Given the description of an element on the screen output the (x, y) to click on. 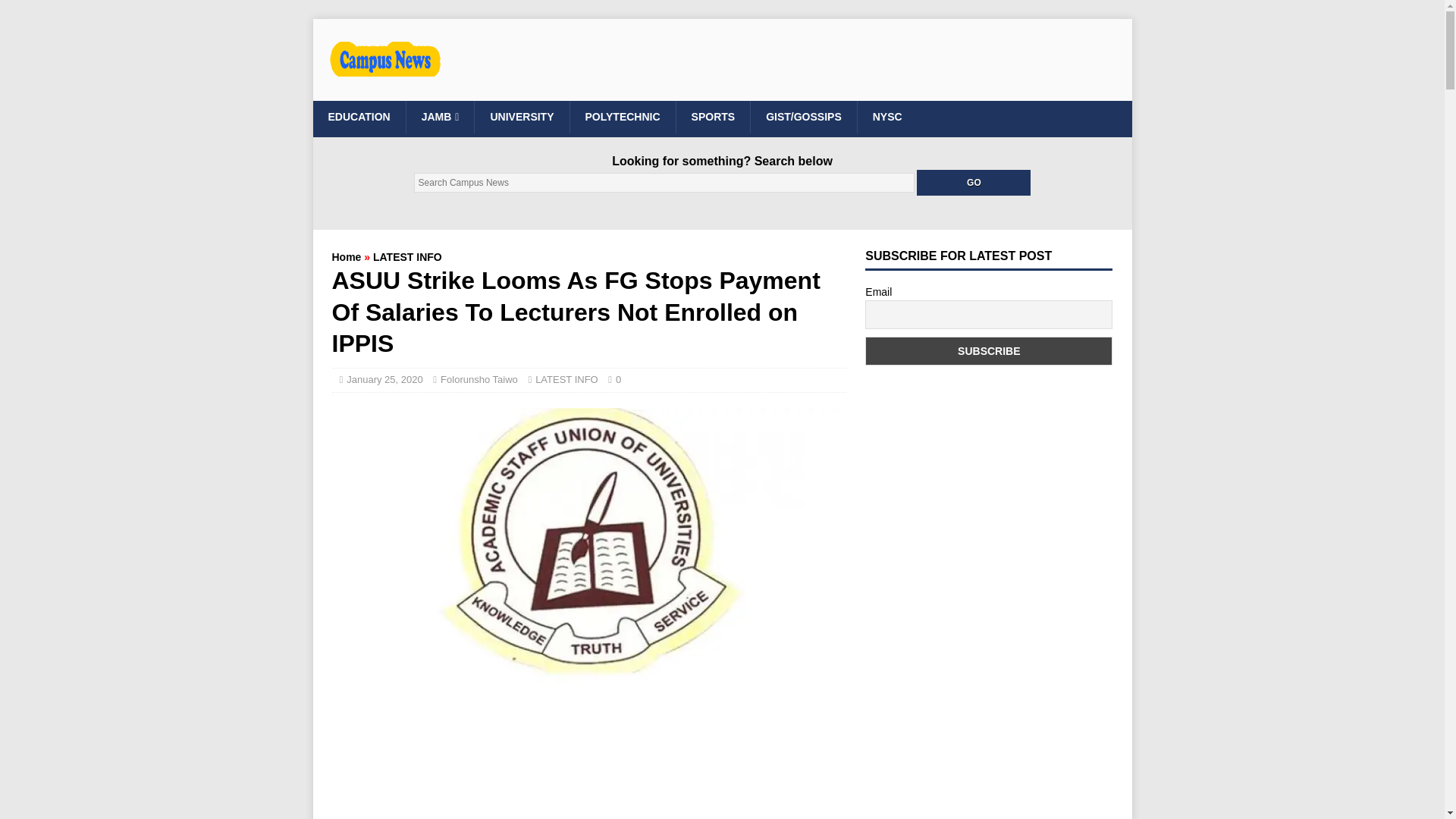
GO (973, 182)
EDUCATION (358, 116)
JAMB (440, 116)
LATEST INFO (407, 256)
January 25, 2020 (384, 378)
Subscribe (988, 350)
LATEST INFO (566, 378)
Search (56, 11)
NYSC (887, 116)
Folorunsho Taiwo (479, 378)
Subscribe (988, 350)
UNIVERSITY (521, 116)
GO (973, 182)
SPORTS (713, 116)
